Given the description of an element on the screen output the (x, y) to click on. 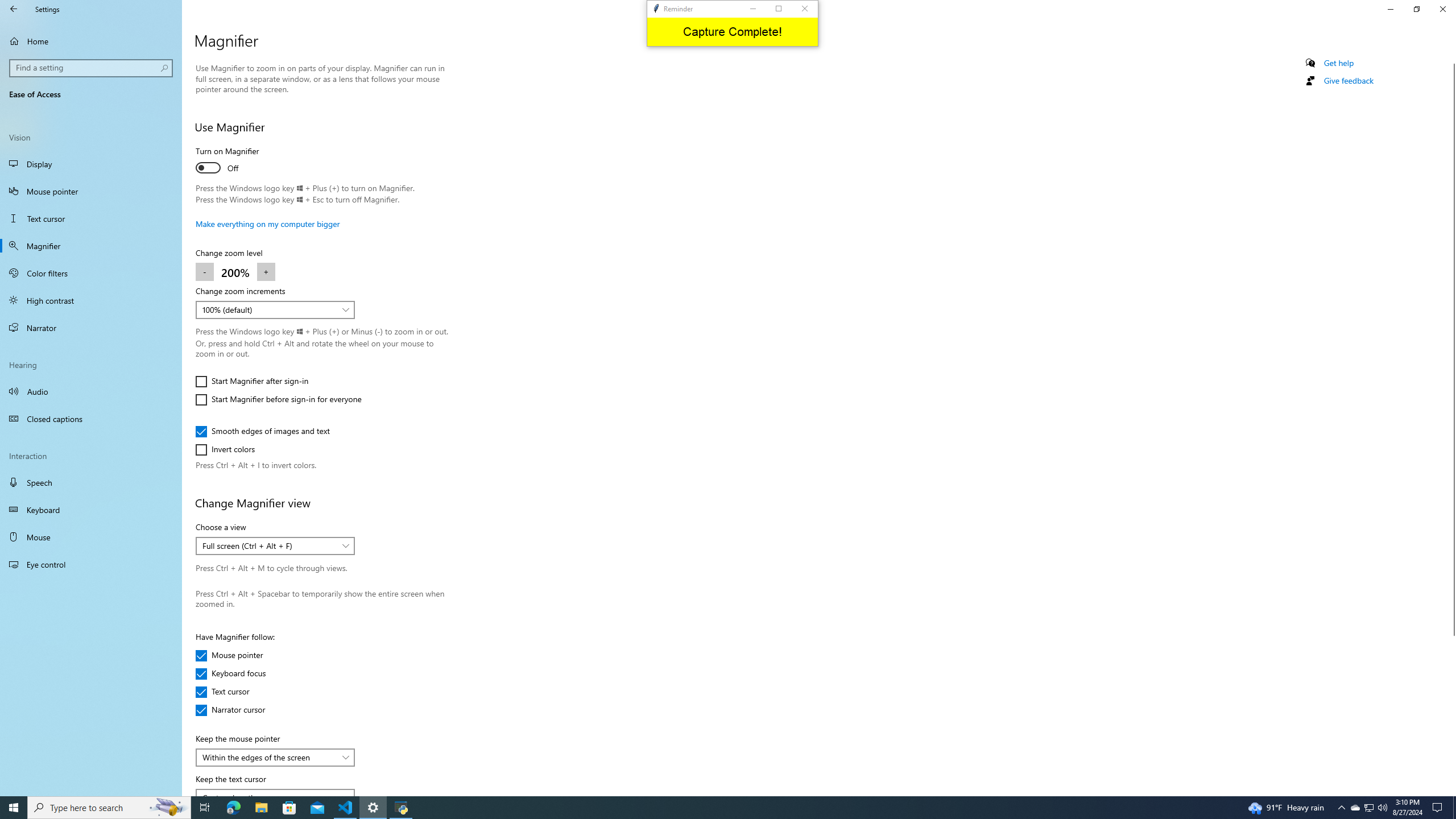
Close Settings (1442, 9)
Text cursor (91, 217)
Start Magnifier before sign-in for everyone (278, 399)
Mouse pointer (91, 190)
Change zoom increments (275, 309)
Start Magnifier after sign-in (251, 381)
Home (91, 40)
Audio (91, 390)
Zoom in (266, 271)
Zoom out (204, 271)
Color filters (91, 272)
